Given the description of an element on the screen output the (x, y) to click on. 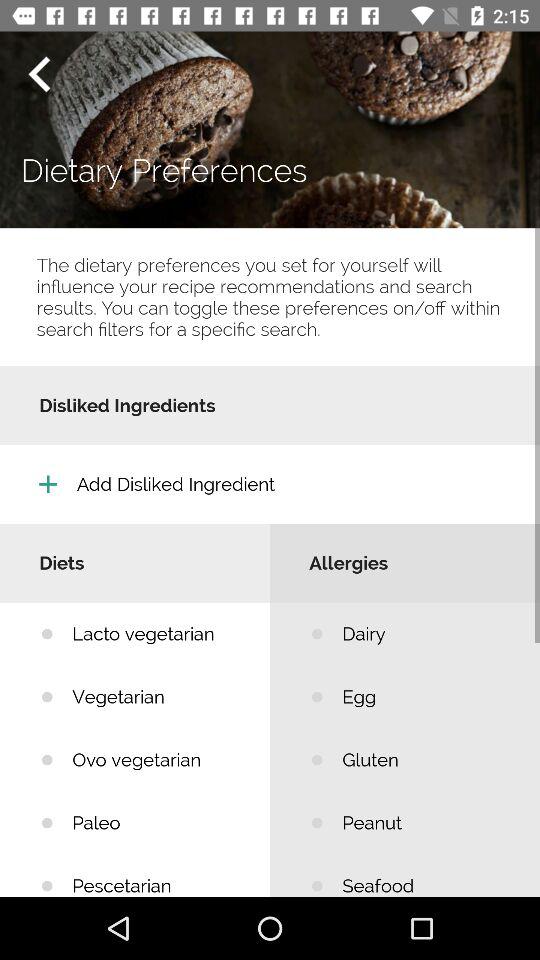
tap the icon below the allergies item (426, 633)
